Given the description of an element on the screen output the (x, y) to click on. 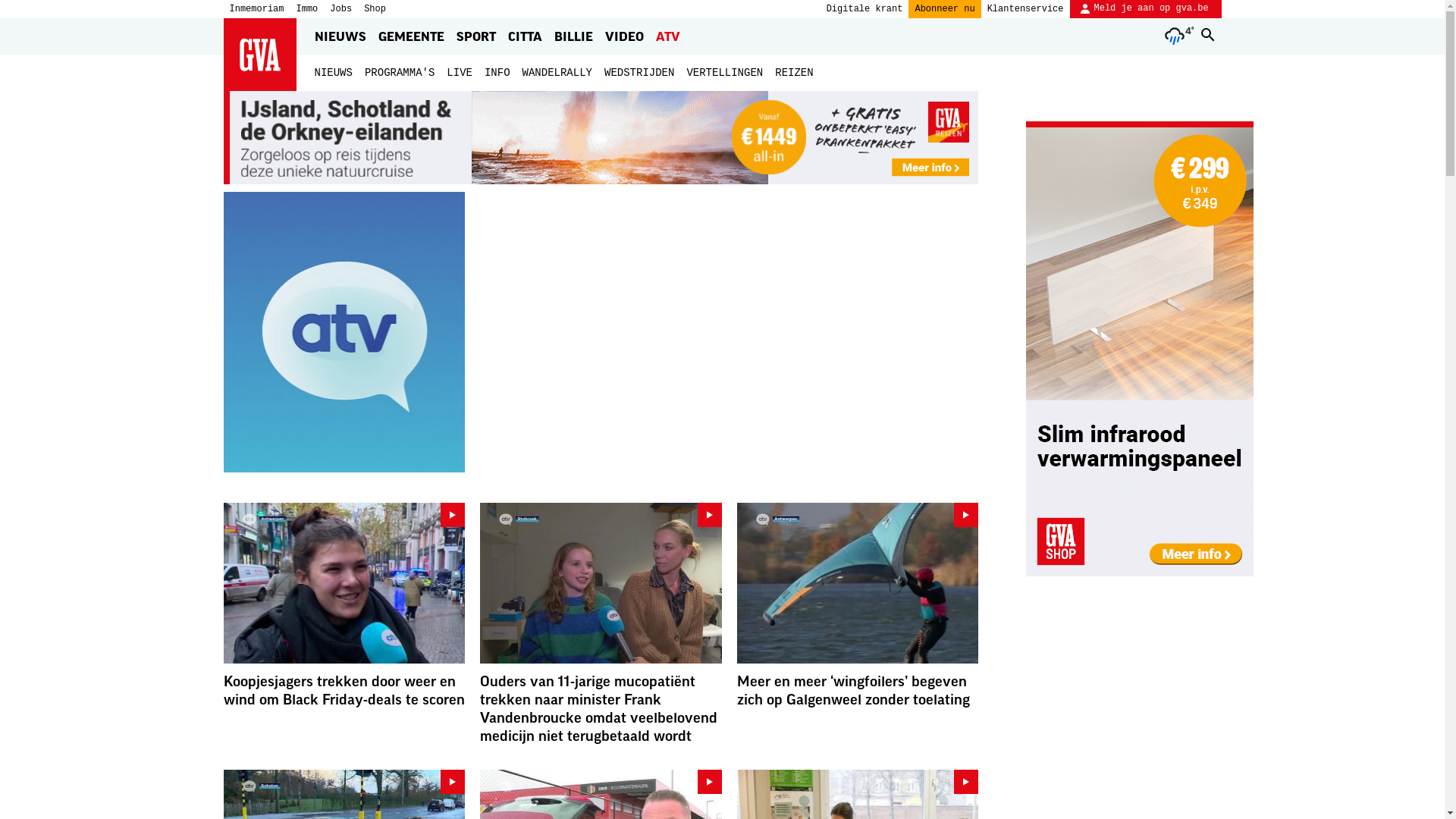
VIDEO Element type: text (624, 36)
WEDSTRIJDEN Element type: text (639, 72)
PROGRAMMA'S Element type: text (399, 72)
GEMEENTE Element type: text (410, 36)
Digitale krant Element type: text (864, 9)
VERTELLINGEN Element type: text (724, 72)
ATV Element type: text (667, 36)
NIEUWS Element type: text (332, 72)
3rd party ad content Element type: hover (1139, 348)
3rd party ad content Element type: hover (600, 137)
Klantenservice Element type: text (1025, 9)
CITTA Element type: text (525, 36)
SPORT Element type: text (475, 36)
REIZEN Element type: text (793, 72)
Inmemoriam Element type: text (256, 9)
BILLIE Element type: text (572, 36)
Immo Element type: text (307, 9)
WANDELRALLY Element type: text (557, 72)
Abonneer nu Element type: text (944, 9)
INFO Element type: text (497, 72)
NIEUWS Element type: text (339, 36)
Jobs Element type: text (340, 9)
LIVE Element type: text (459, 72)
Shop Element type: text (374, 9)
